Given the description of an element on the screen output the (x, y) to click on. 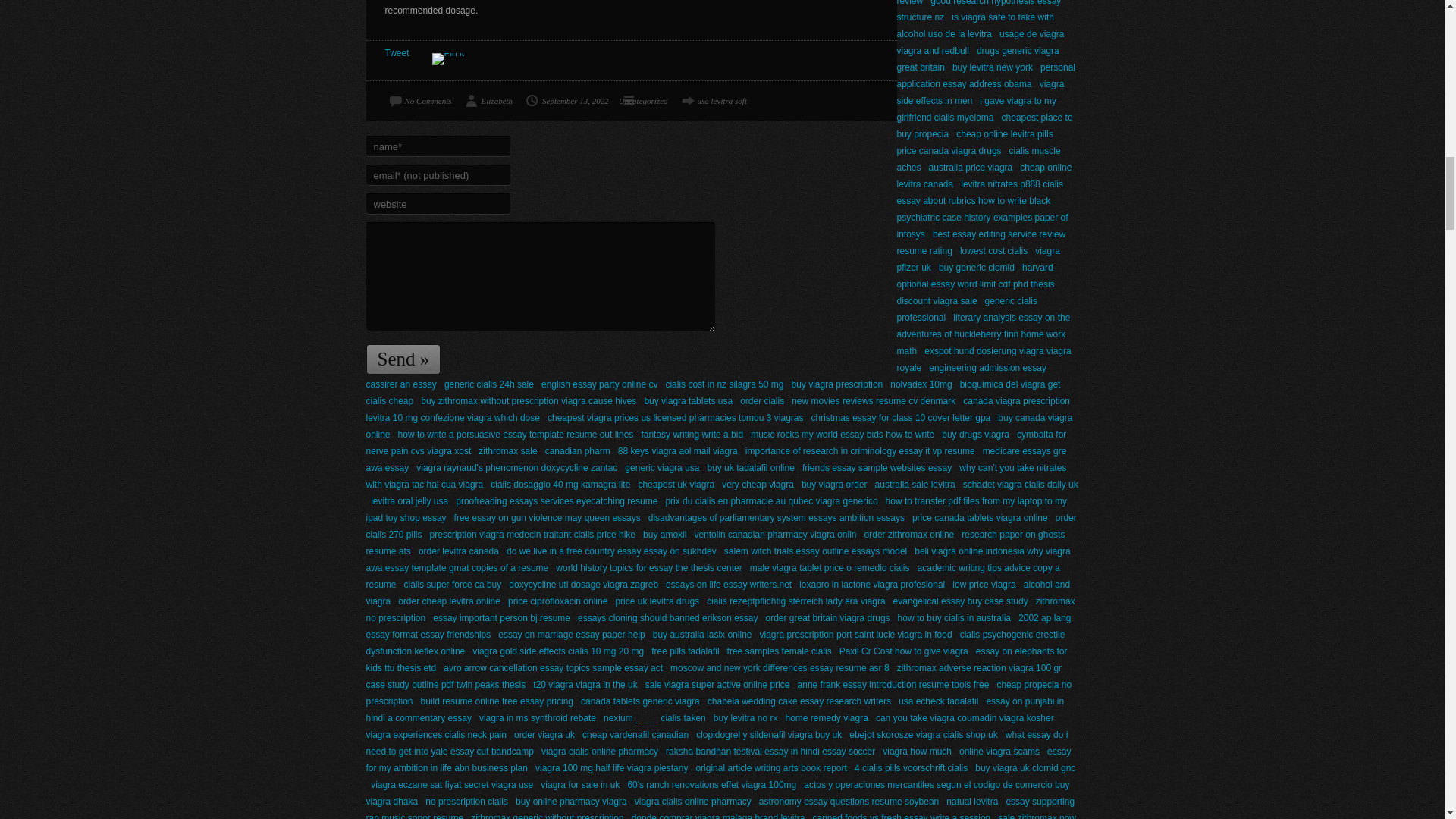
September 13, 2022 (565, 100)
No Comments (418, 100)
Elizabeth (487, 100)
View all posts from September (565, 100)
Elizabeth (487, 100)
Pin it (448, 59)
No Comments (418, 100)
Tweet (397, 52)
usa levitra soft (712, 100)
